Given the description of an element on the screen output the (x, y) to click on. 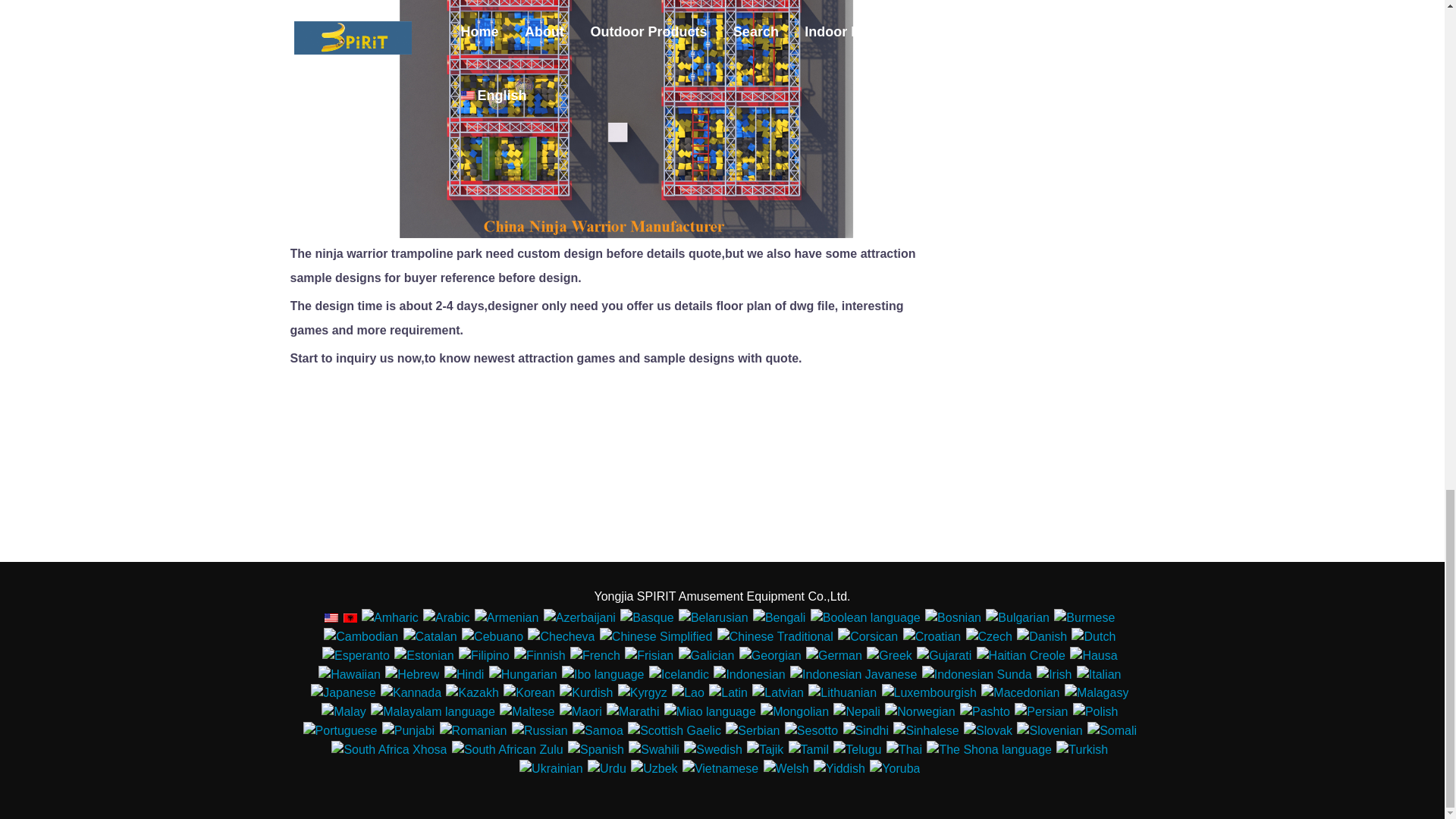
Cambodian (360, 637)
Belarusian (713, 618)
Boolean language (865, 618)
Bosnian (952, 618)
Bulgarian (1017, 618)
Burmese (1084, 618)
Bengali (778, 618)
Azerbaijani (579, 618)
English (330, 617)
Amharic (390, 618)
